Given the description of an element on the screen output the (x, y) to click on. 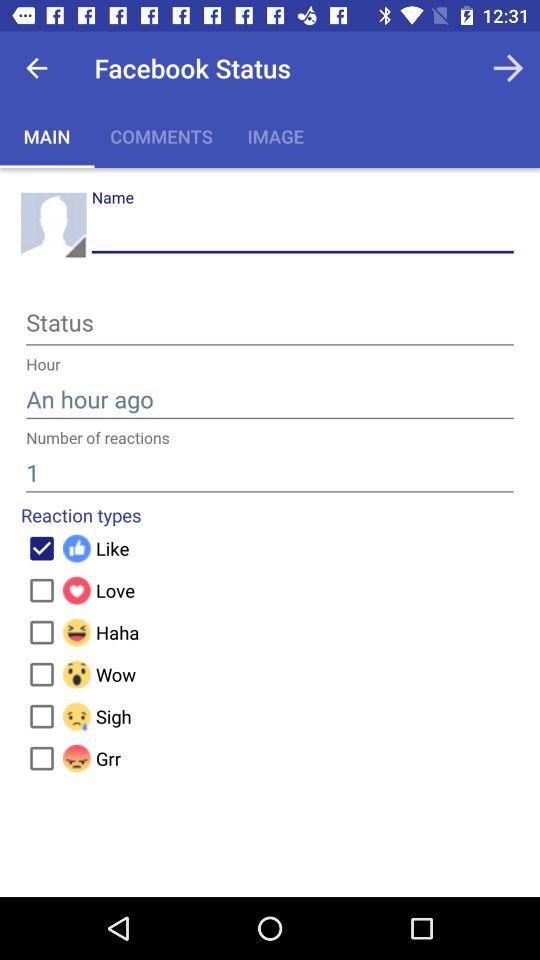
contacts name type option (302, 232)
